Given the description of an element on the screen output the (x, y) to click on. 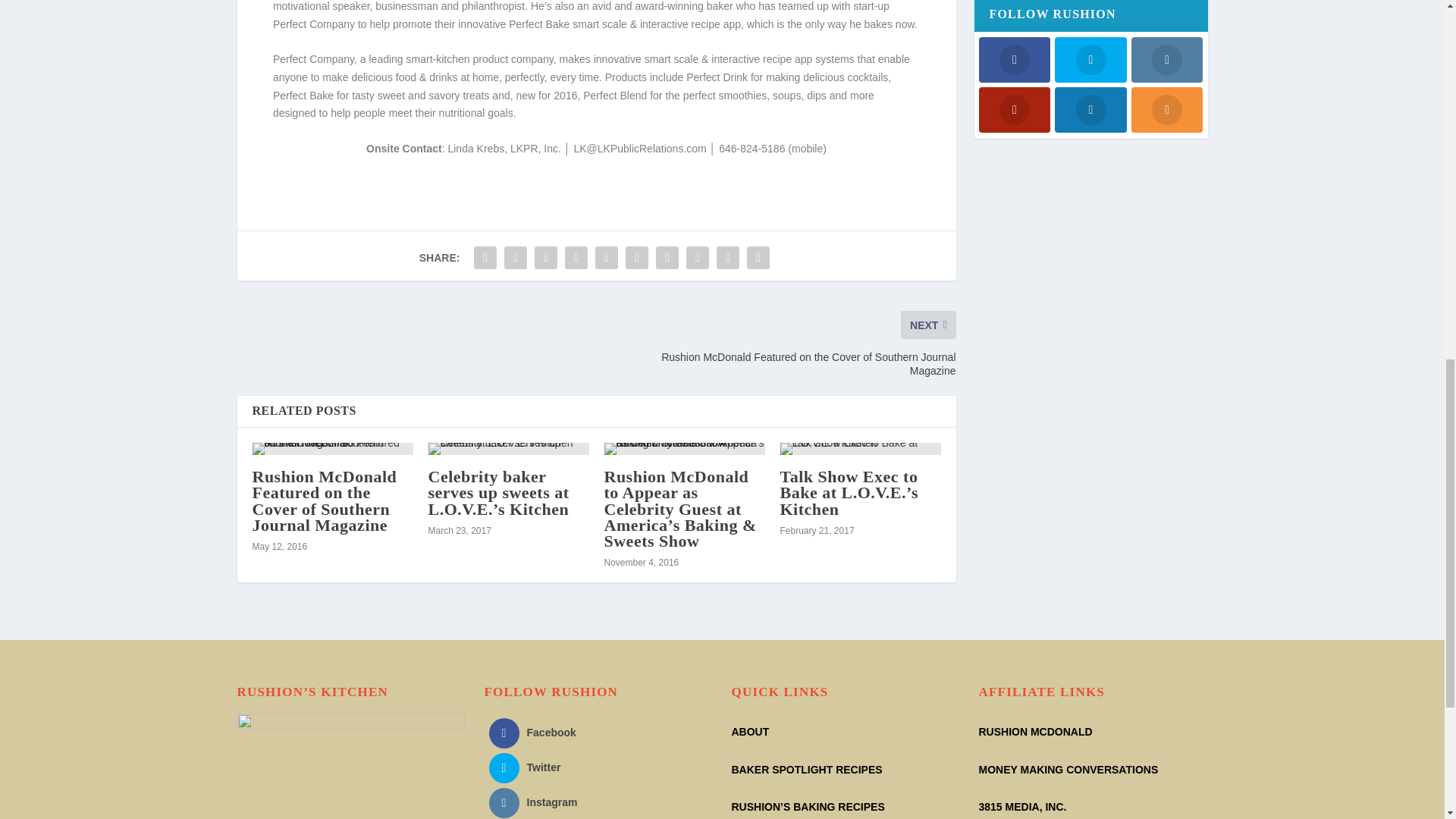
Perfect Company (313, 59)
